Given the description of an element on the screen output the (x, y) to click on. 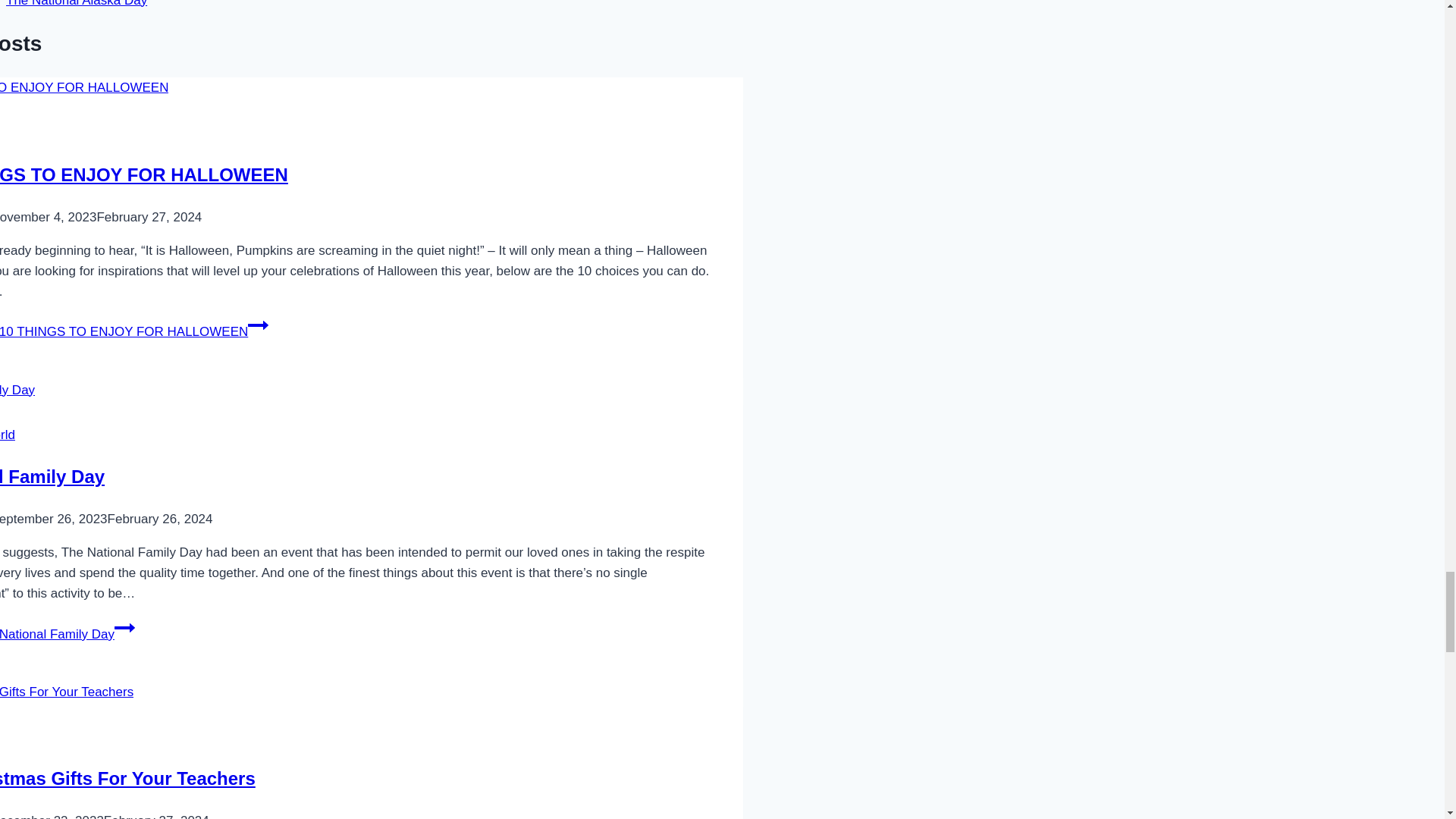
National Family Day (52, 476)
World (7, 434)
16 Christmas Gifts For Your Teachers (128, 778)
Continue (257, 324)
Read More National Family DayContinue (67, 634)
Continue (125, 627)
10 THINGS TO ENJOY FOR HALLOWEEN (144, 174)
